Given the description of an element on the screen output the (x, y) to click on. 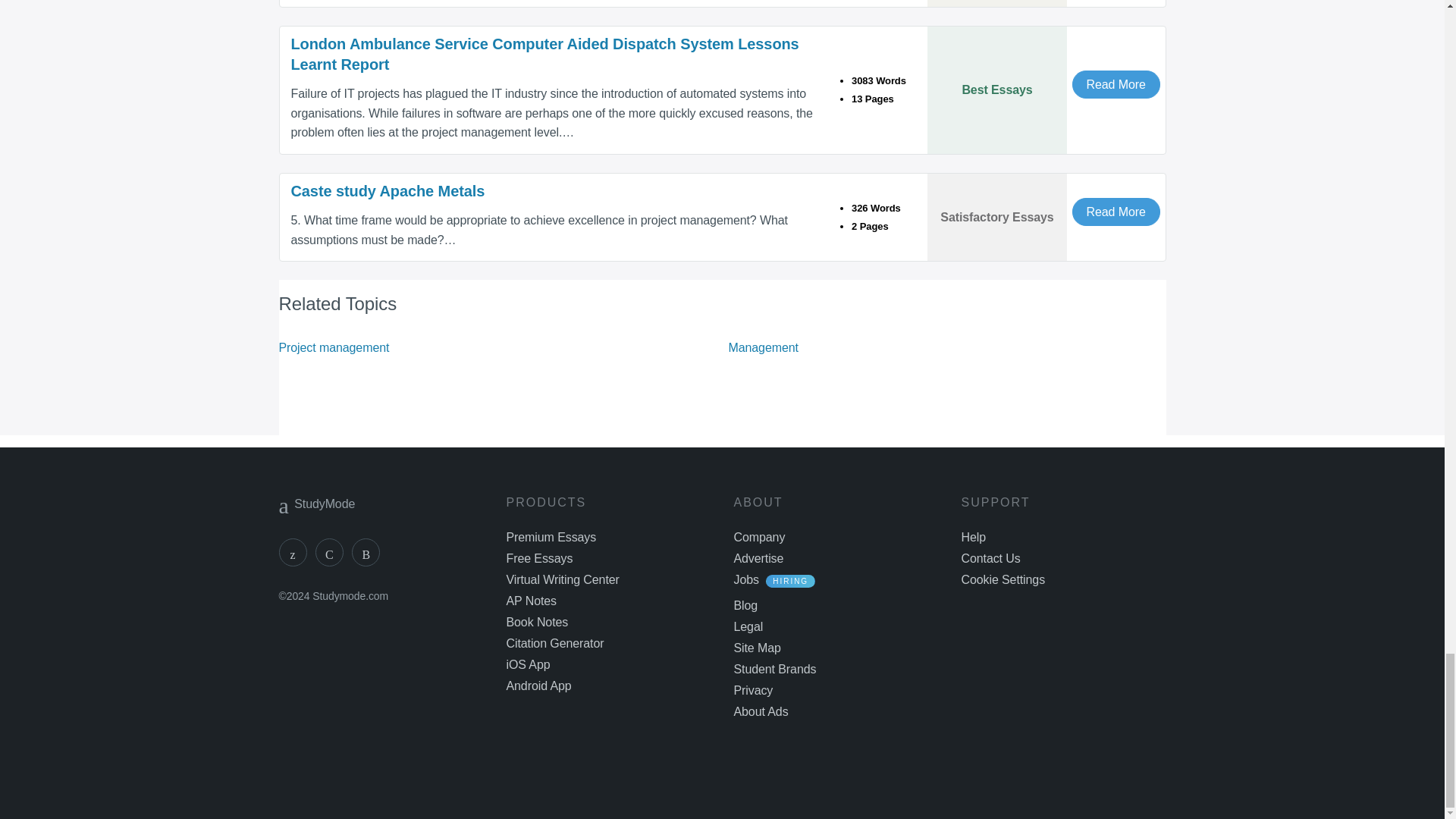
Management (762, 347)
Project management (334, 347)
